Given the description of an element on the screen output the (x, y) to click on. 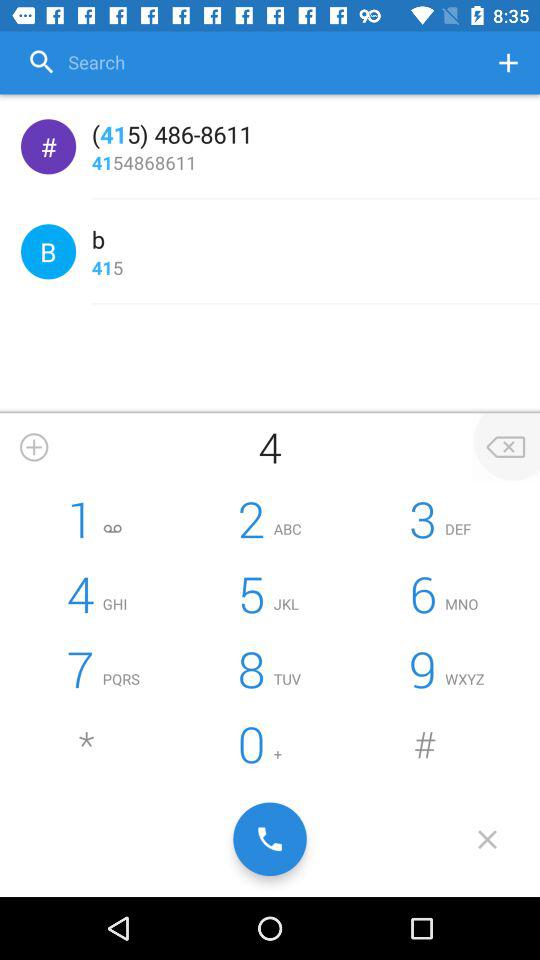
search bar (249, 62)
